Given the description of an element on the screen output the (x, y) to click on. 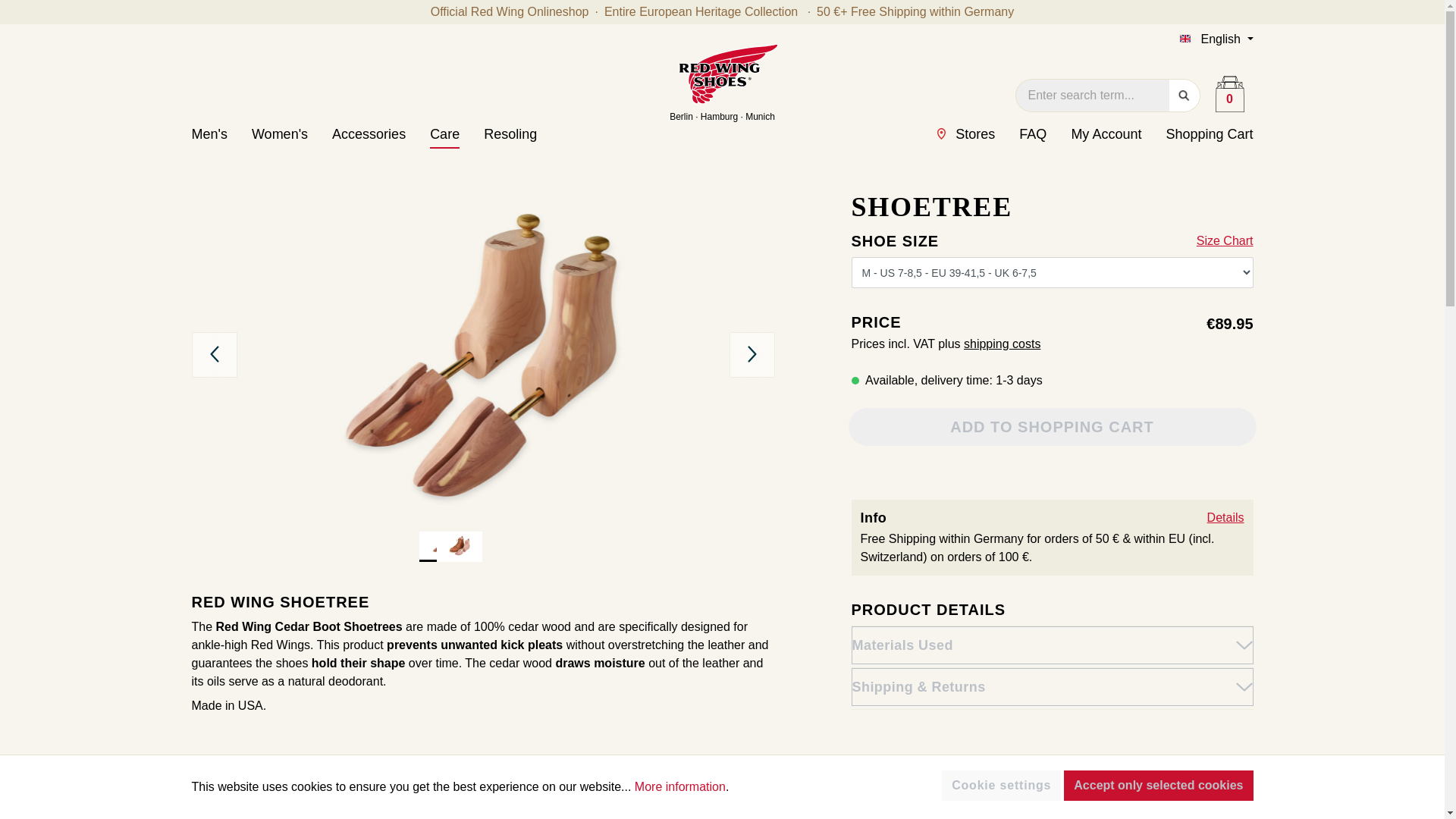
Accessories (380, 135)
Shopping Cart (1228, 93)
Resoling (510, 135)
Care (456, 135)
Care (456, 135)
Men's (220, 135)
0 (1228, 93)
Women's (291, 135)
Men's (220, 135)
Go to homepage (721, 84)
Women's (291, 135)
Accessories (380, 135)
Resoling (510, 135)
